Given the description of an element on the screen output the (x, y) to click on. 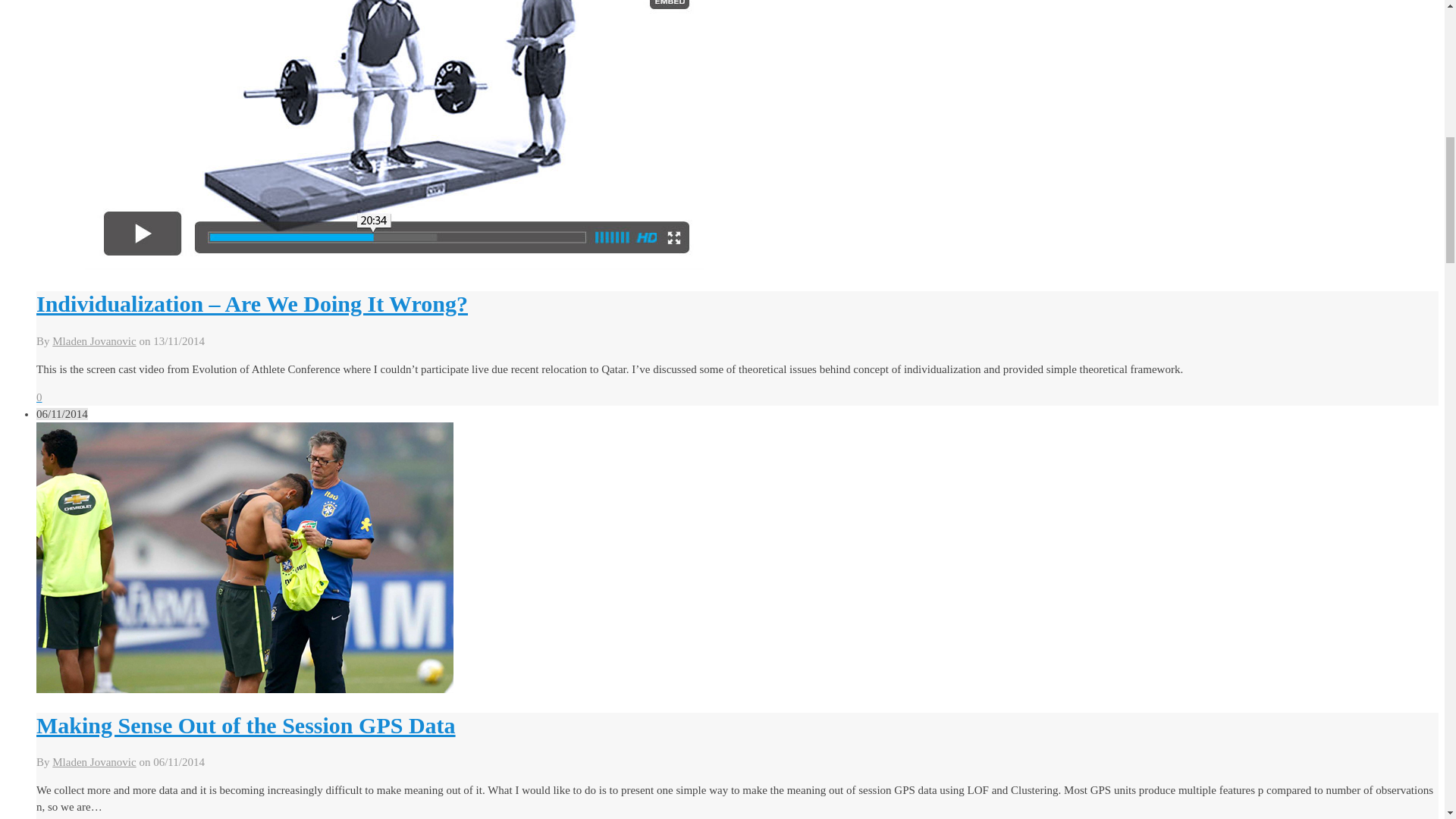
Mladen Jovanovic (93, 340)
Making Sense Out of the Session GPS Data (245, 724)
Mladen Jovanovic (93, 761)
